Given the description of an element on the screen output the (x, y) to click on. 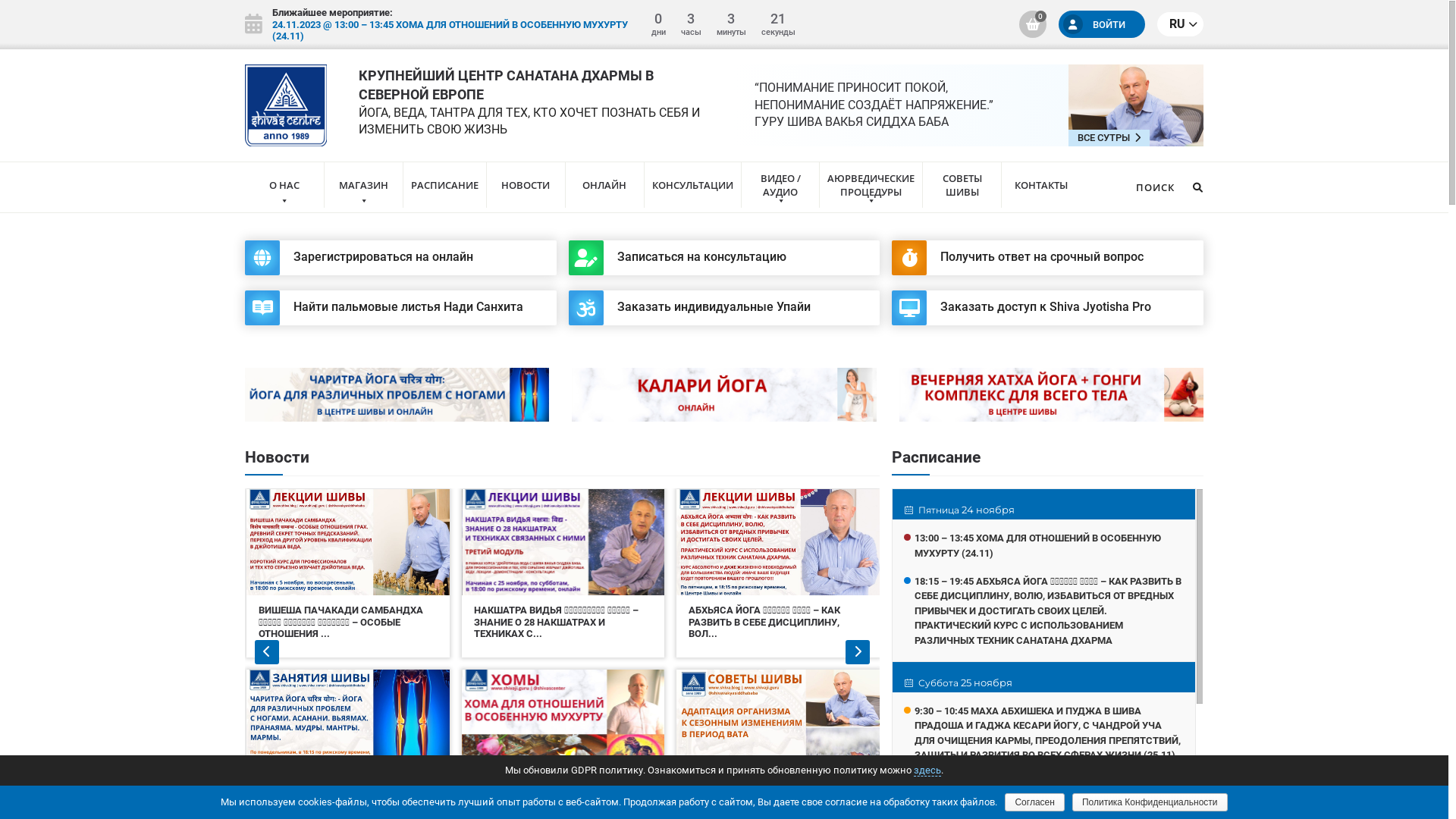
0 Element type: text (1032, 23)
View All Events Element type: hover (253, 23)
